Given the description of an element on the screen output the (x, y) to click on. 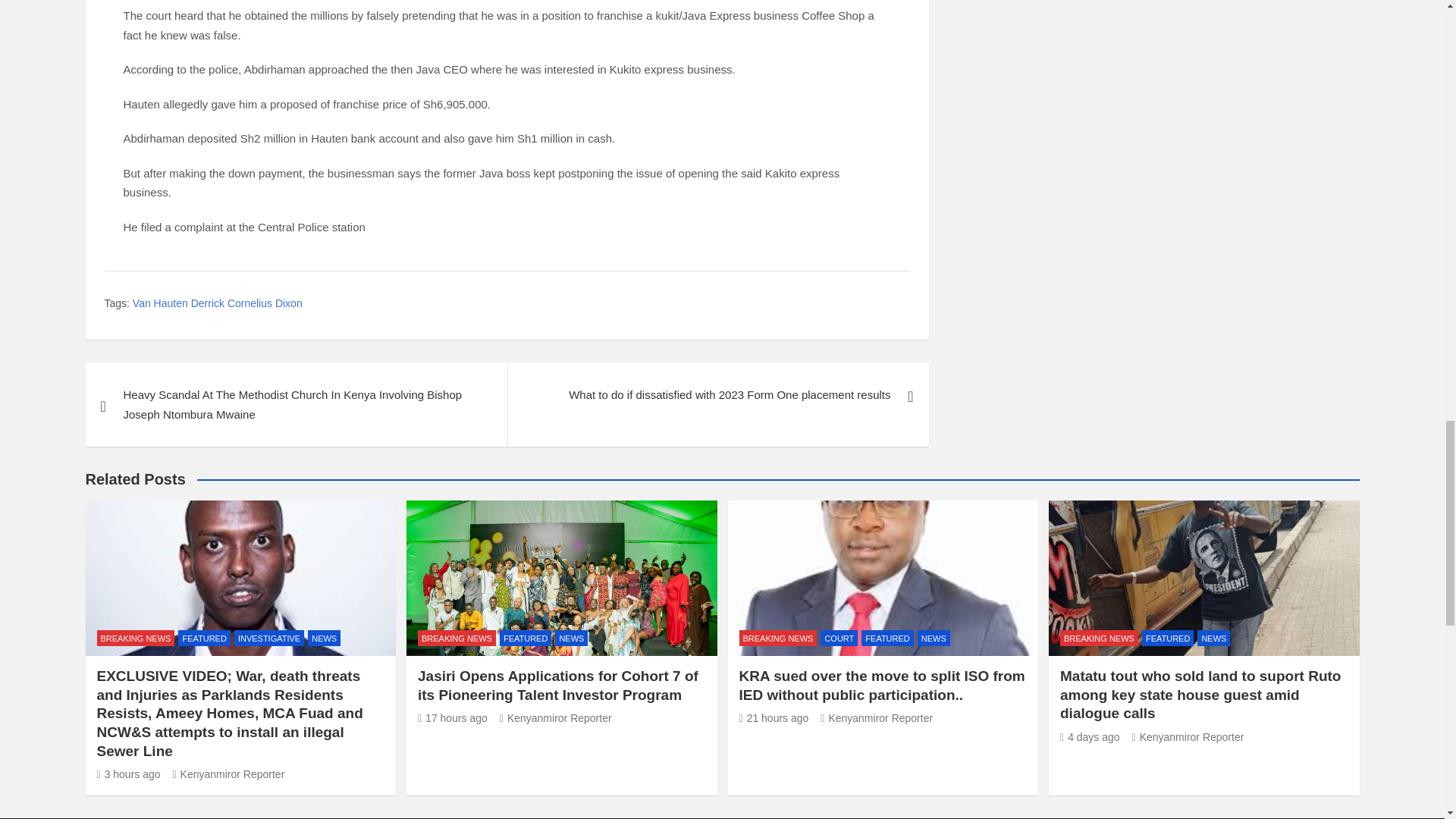
Van Hauten Derrick Cornelius Dixon (217, 303)
